Given the description of an element on the screen output the (x, y) to click on. 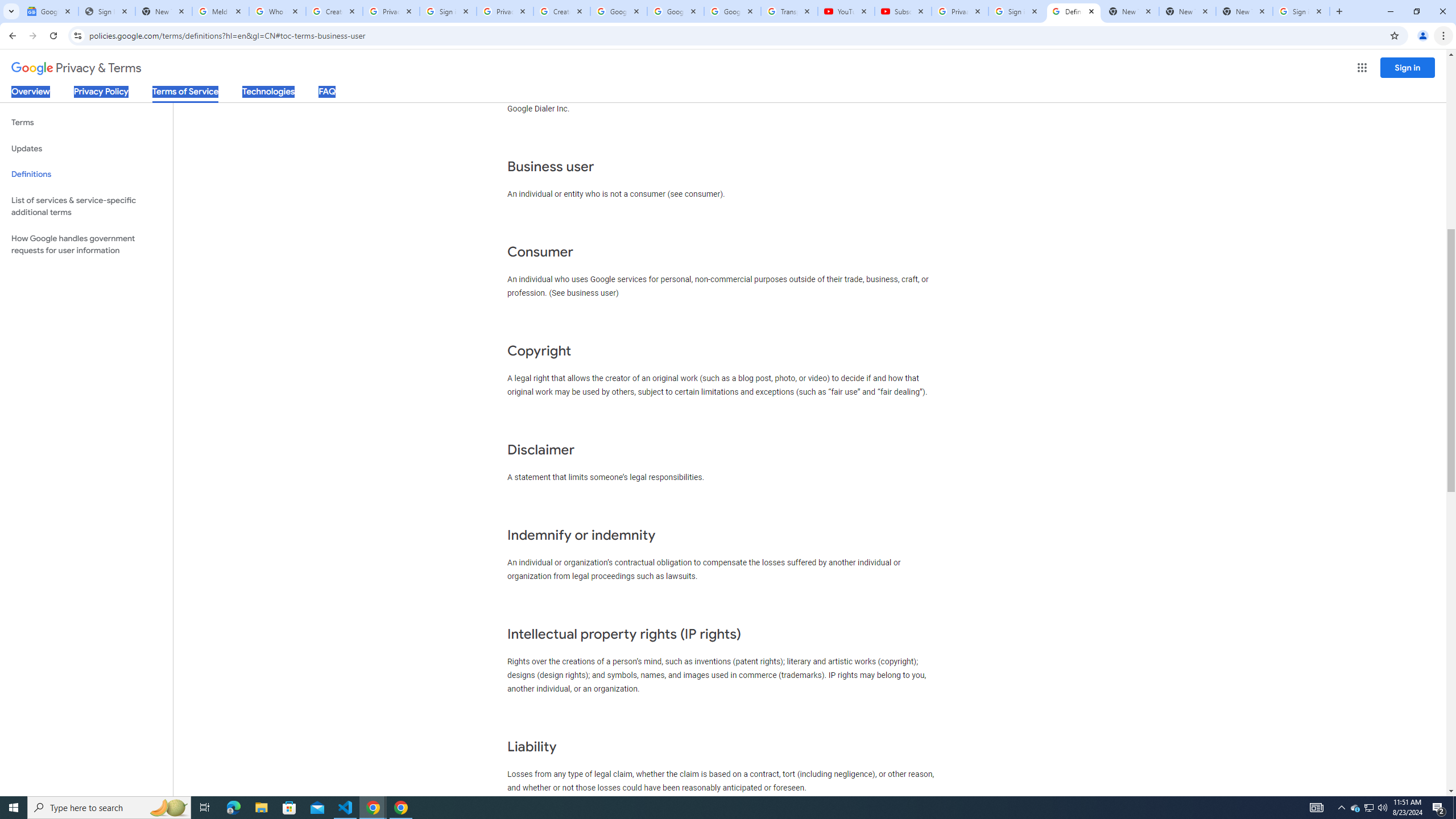
Sign In - USA TODAY (105, 11)
Sign in - Google Accounts (1015, 11)
How Google handles government requests for user information (86, 244)
Sign in - Google Accounts (1301, 11)
Who is my administrator? - Google Account Help (277, 11)
List of services & service-specific additional terms (86, 206)
